Given the description of an element on the screen output the (x, y) to click on. 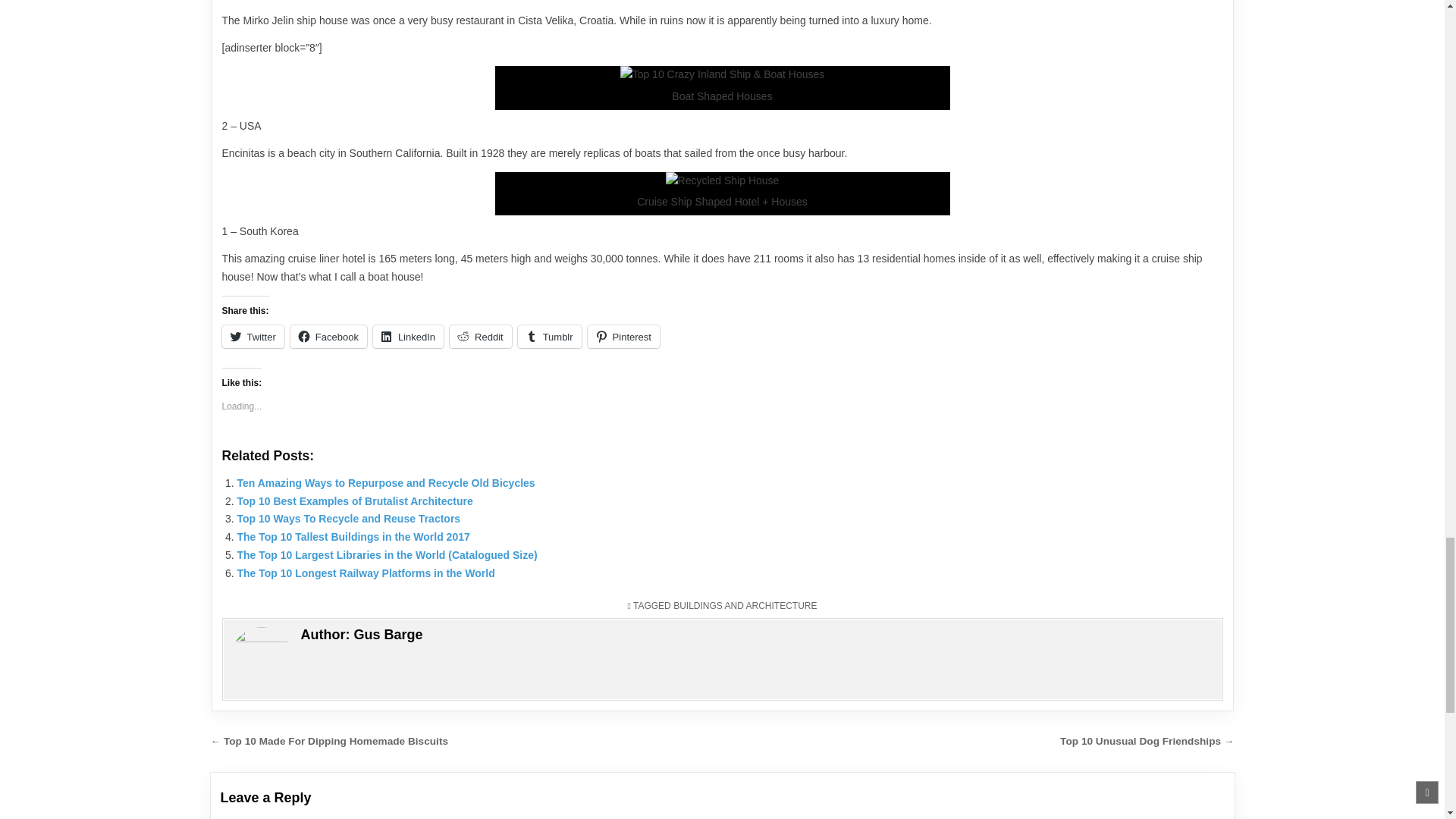
LinkedIn (408, 336)
The Top 10 Tallest Buildings in the World 2017 (351, 536)
Top 10 Ways To Recycle and Reuse Tractors (347, 518)
Ten Amazing Ways to Repurpose and Recycle Old Bicycles (384, 482)
Facebook (327, 336)
Click to share on Reddit (480, 336)
BUILDINGS AND ARCHITECTURE (744, 605)
Click to share on Tumblr (549, 336)
Click to share on Pinterest (623, 336)
Top 10 Best Examples of Brutalist Architecture (353, 500)
